Given the description of an element on the screen output the (x, y) to click on. 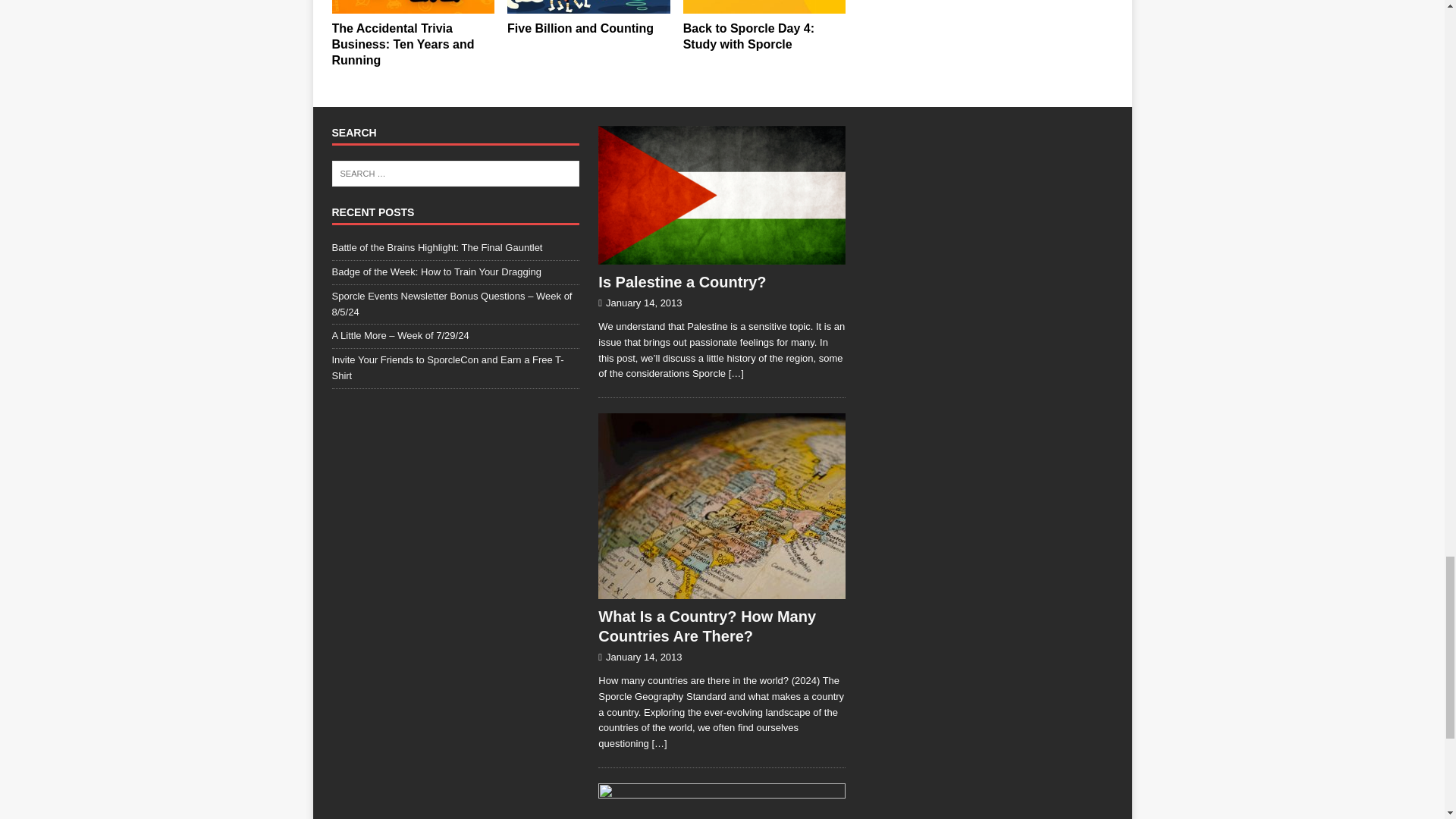
The Accidental Trivia Business: Ten Years and Running (402, 44)
The Accidental Trivia Business: Ten Years and Running (413, 6)
Five Billion and Counting (579, 28)
Five Billion and Counting (587, 6)
